Given the description of an element on the screen output the (x, y) to click on. 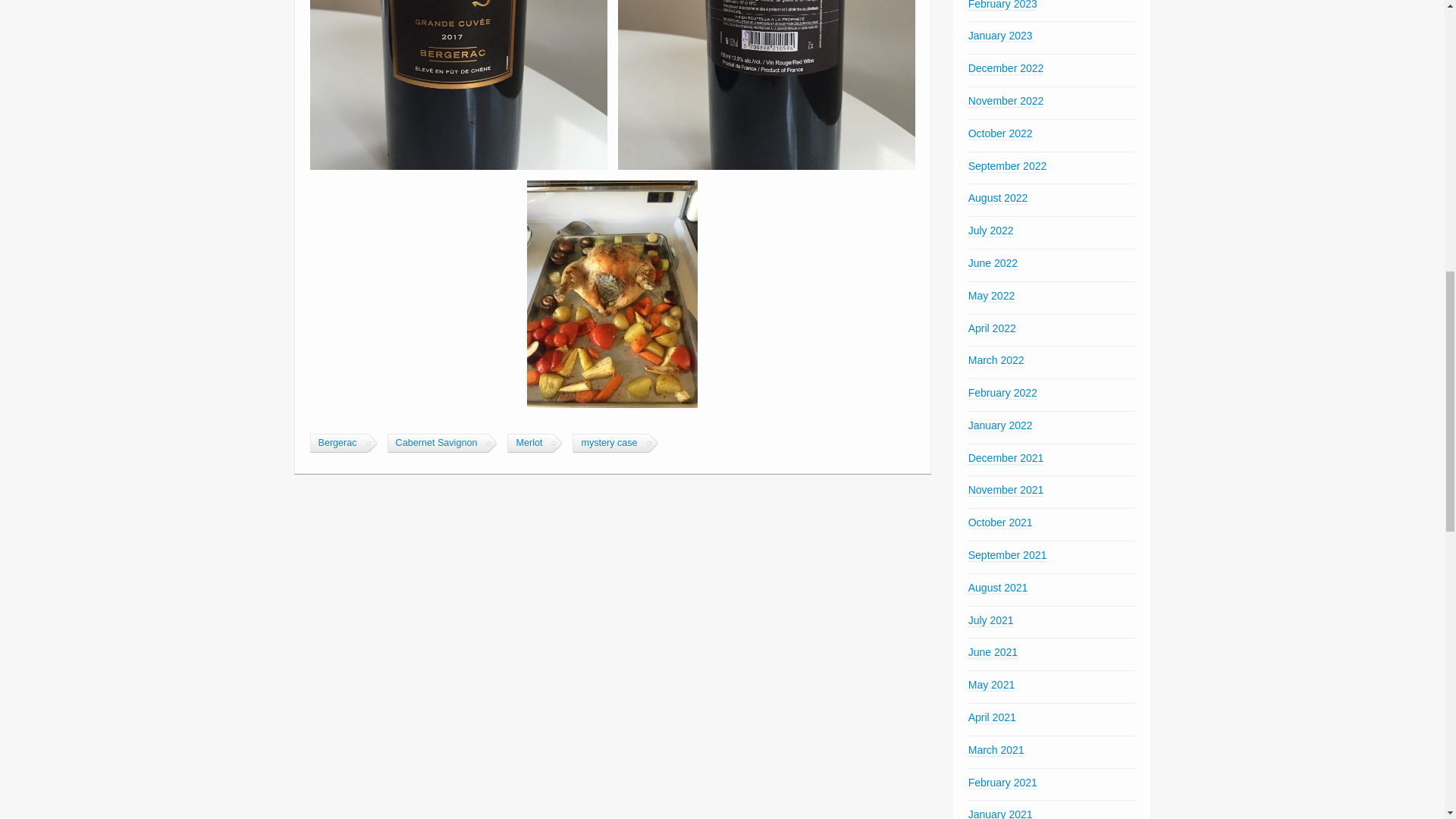
Bergerac (336, 443)
September 2022 (1007, 165)
mystery case (608, 443)
August 2022 (997, 197)
January 2023 (1000, 35)
July 2022 (990, 230)
Cabernet Savignon (435, 443)
Merlot (528, 443)
February 2023 (1002, 5)
October 2022 (1000, 133)
